Given the description of an element on the screen output the (x, y) to click on. 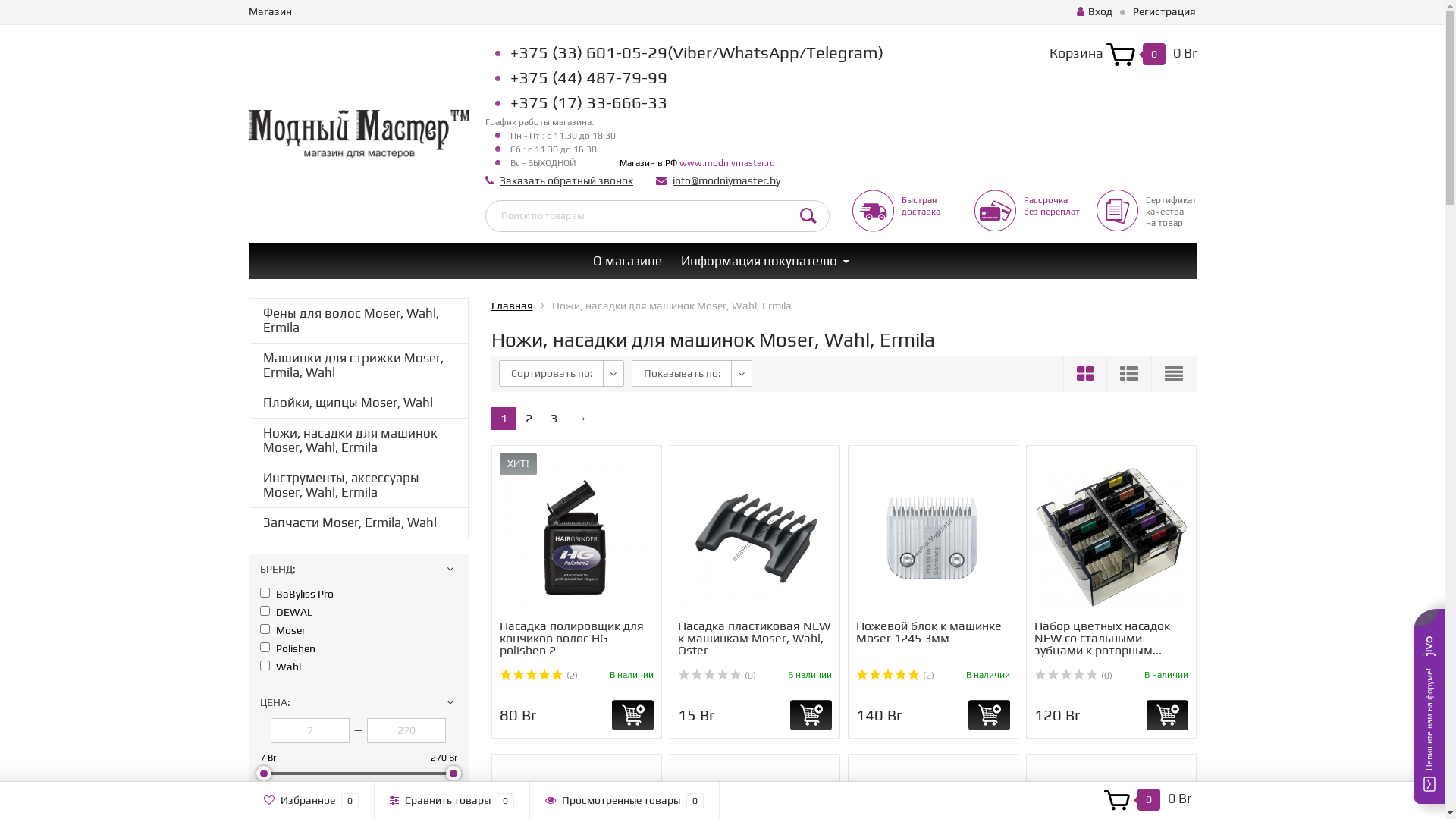
1 Element type: text (503, 418)
(0) Element type: text (716, 675)
2 Element type: text (527, 418)
(0) Element type: text (1073, 675)
(2) Element type: text (894, 675)
0 0 Br Element type: text (1146, 799)
3 Element type: text (553, 418)
info@modniymaster.by Element type: text (726, 180)
www.modniymaster.ru Element type: text (727, 162)
(2) Element type: text (537, 675)
